Given the description of an element on the screen output the (x, y) to click on. 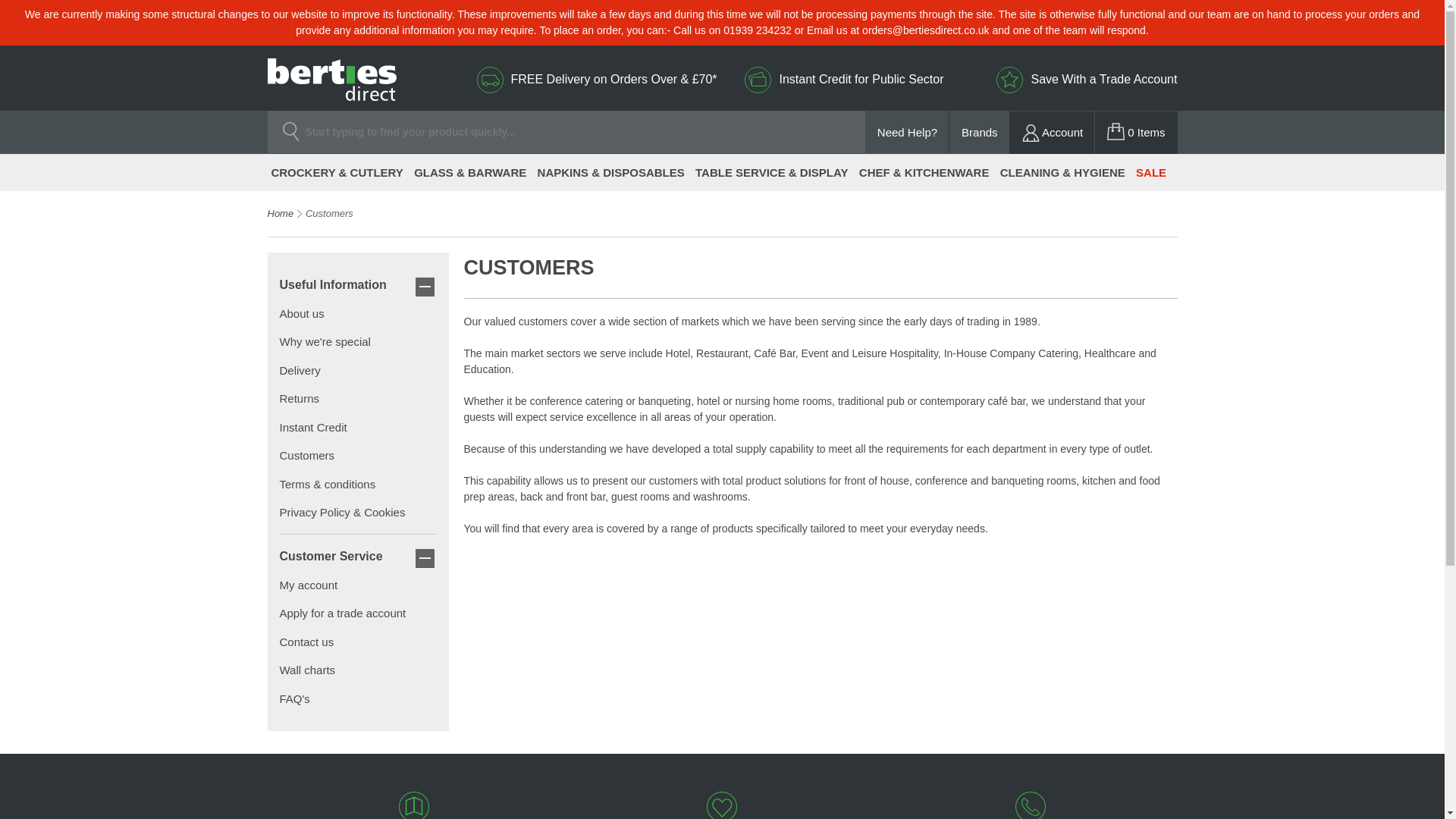
Brands (979, 131)
Need Help? (906, 131)
Account (1053, 131)
Save With a Trade Account (1103, 78)
Go to Home Page (280, 213)
Instant Credit for Public Sector (860, 78)
0 Items (1135, 131)
